Given the description of an element on the screen output the (x, y) to click on. 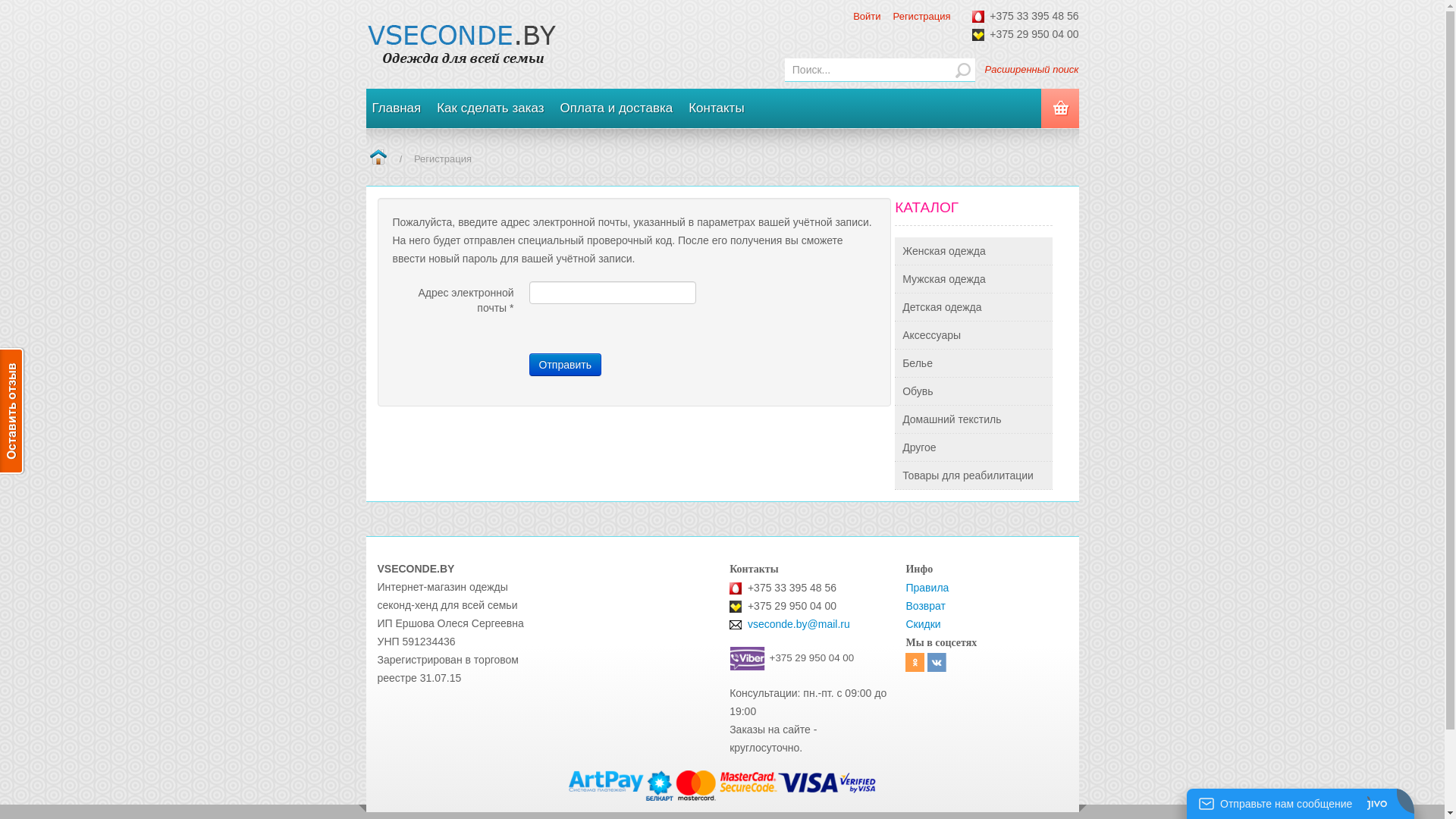
vseconde.by@mail.ru Element type: text (798, 624)
